Given the description of an element on the screen output the (x, y) to click on. 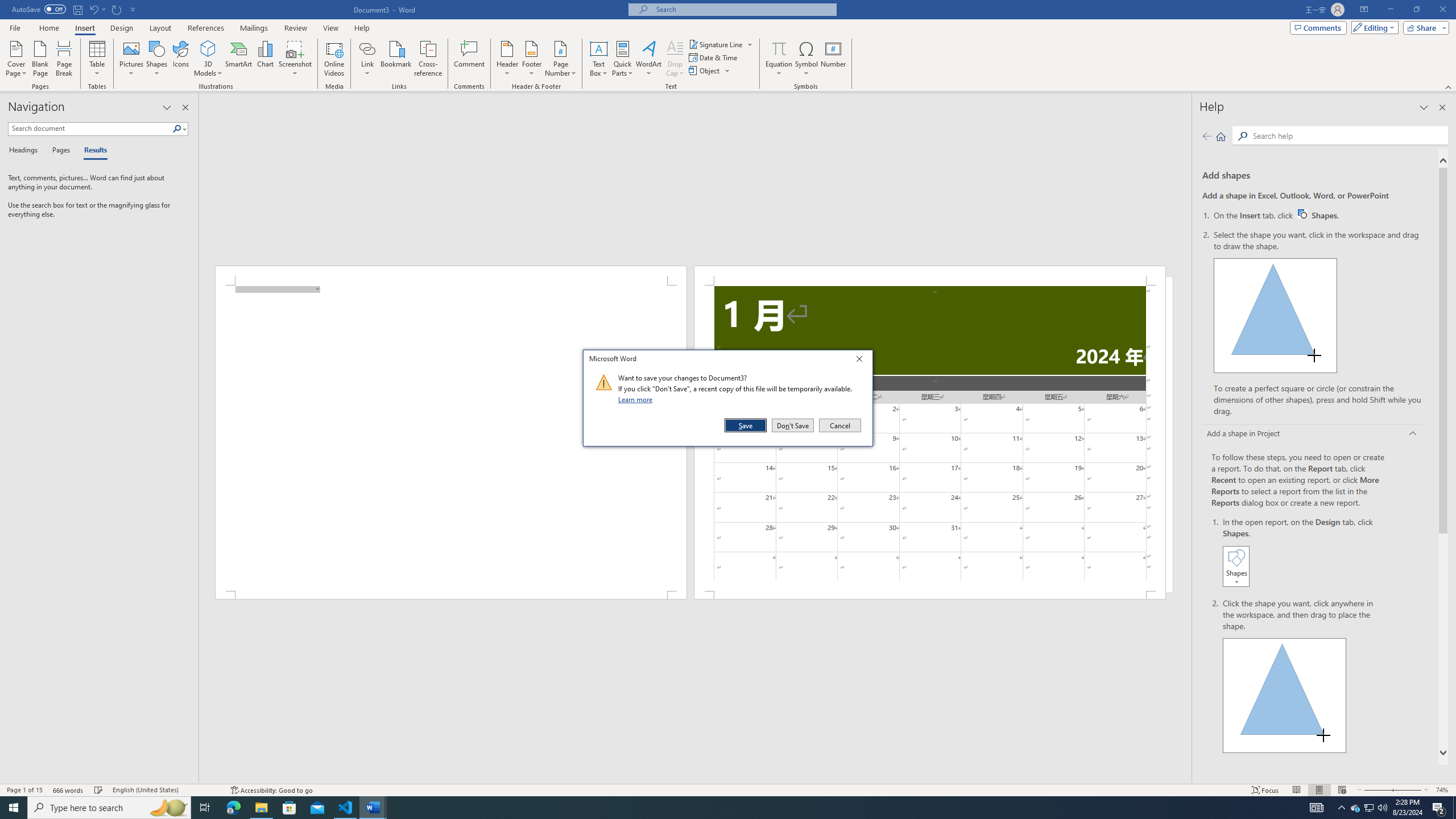
More Options (778, 68)
Don't Save (792, 425)
Class: NetUIScrollBar (695, 778)
Word Count 666 words (68, 790)
User Promoted Notification Area (1368, 807)
Link (367, 58)
Running applications (717, 807)
3D Models (208, 58)
Ribbon Display Options (1364, 9)
Footer (531, 58)
Shapes (156, 58)
Cancel (839, 425)
Word - 2 running windows (373, 807)
Language English (United States) (165, 790)
